Given the description of an element on the screen output the (x, y) to click on. 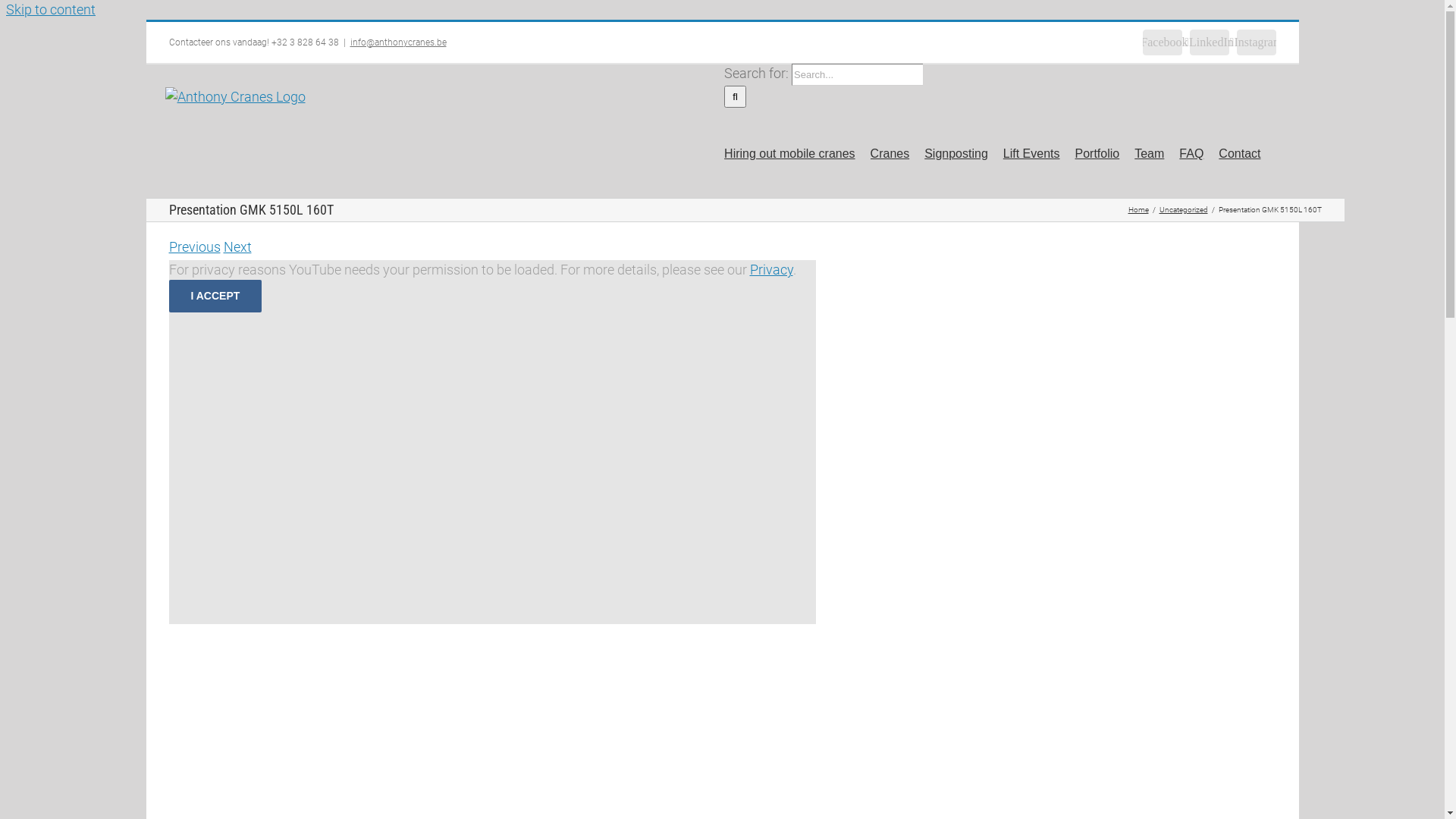
Contact Element type: text (1239, 152)
Privacy Element type: text (770, 269)
Uncategorized Element type: text (1182, 209)
Home Element type: text (1138, 209)
Hiring out mobile cranes Element type: text (789, 152)
Skip to content Element type: text (50, 9)
Signposting Element type: text (956, 152)
Cranes Element type: text (890, 152)
I ACCEPT Element type: text (214, 295)
Team Element type: text (1149, 152)
Portfolio Element type: text (1097, 152)
LinkedIn Element type: text (1208, 42)
Lift Events Element type: text (1031, 152)
Instagram Element type: text (1255, 42)
Facebook Element type: text (1161, 42)
Next Element type: text (236, 246)
Previous Element type: text (193, 246)
info@anthonycranes.be Element type: text (398, 42)
FAQ Element type: text (1191, 152)
